Given the description of an element on the screen output the (x, y) to click on. 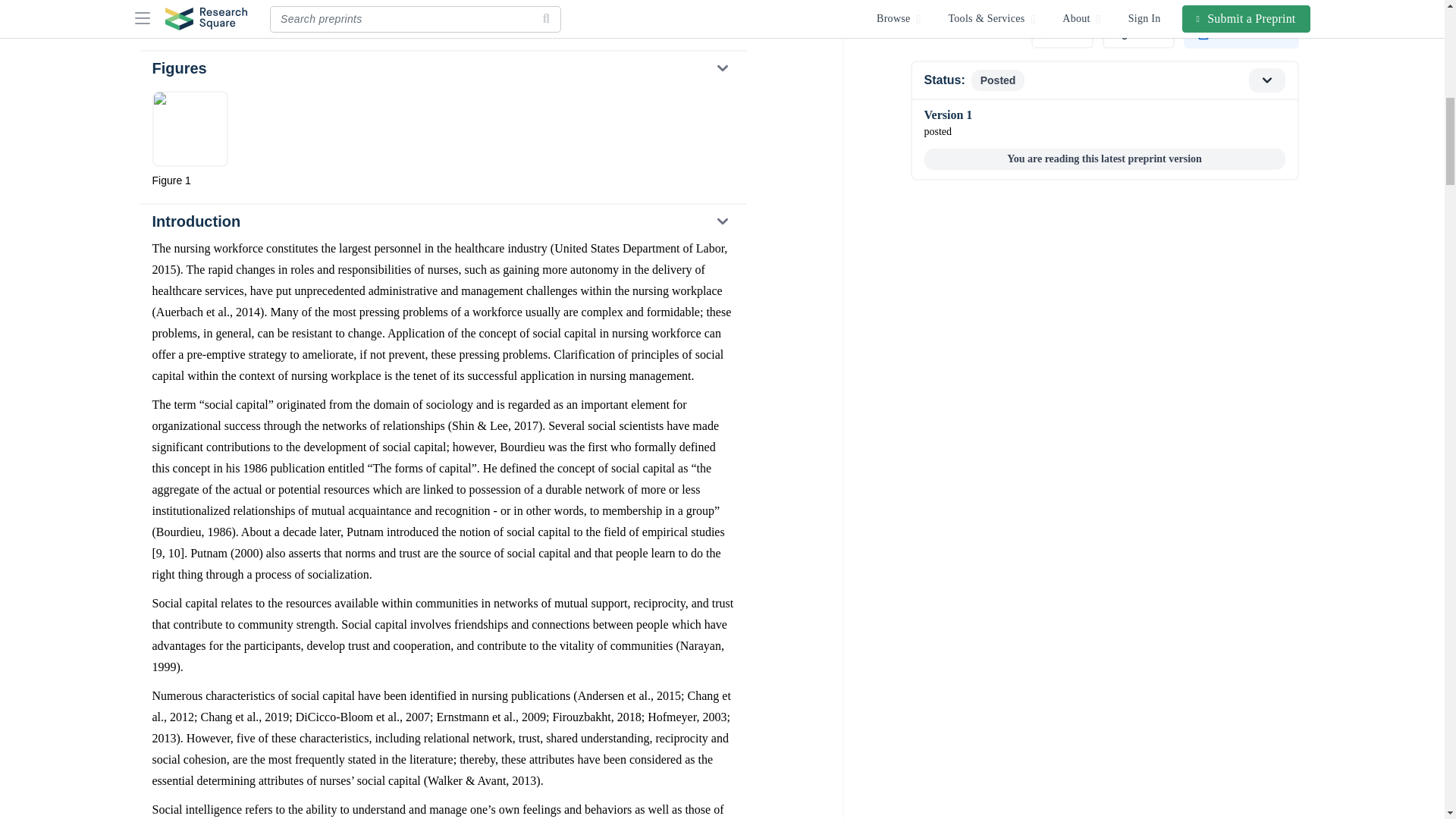
Introduction (442, 221)
Sociology (181, 2)
Nursing (246, 2)
Figures (442, 68)
